Given the description of an element on the screen output the (x, y) to click on. 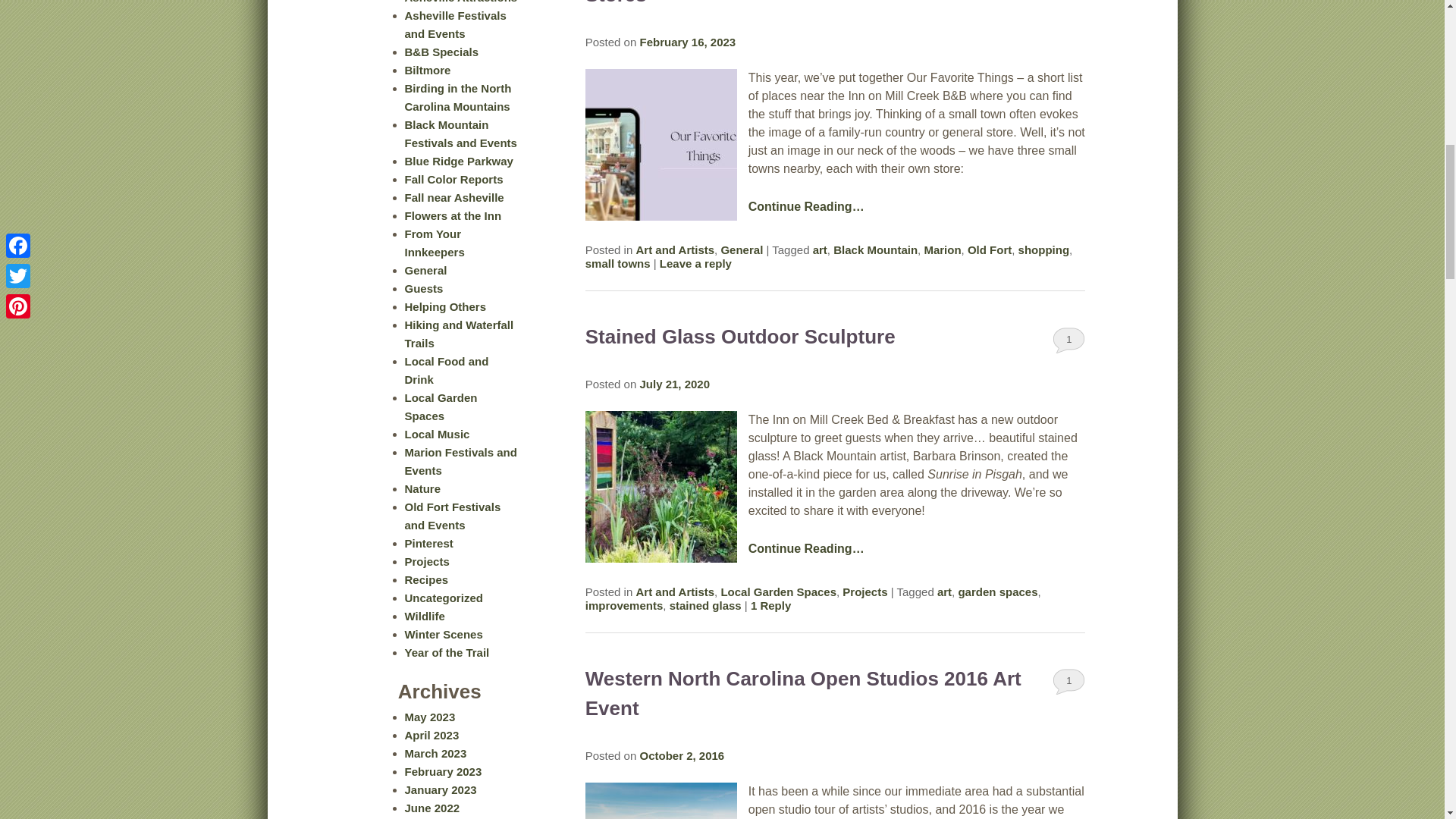
2:25 pm (687, 42)
February 16, 2023 (687, 42)
8:15 am (681, 755)
7:34 pm (674, 383)
Permalink to Stained Glass Outdoor Sculpture (740, 336)
